Given the description of an element on the screen output the (x, y) to click on. 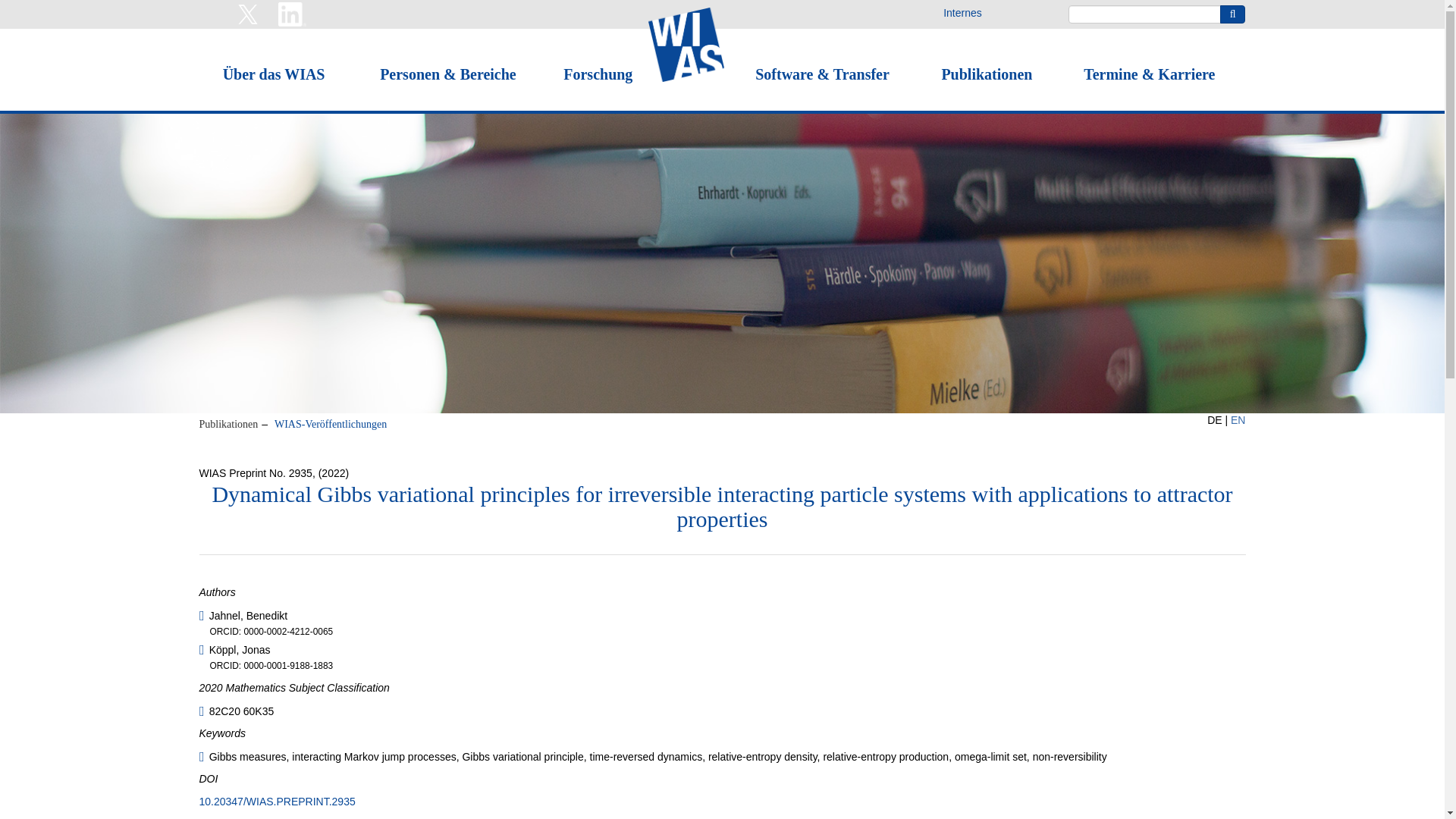
Staff Only (962, 12)
